Given the description of an element on the screen output the (x, y) to click on. 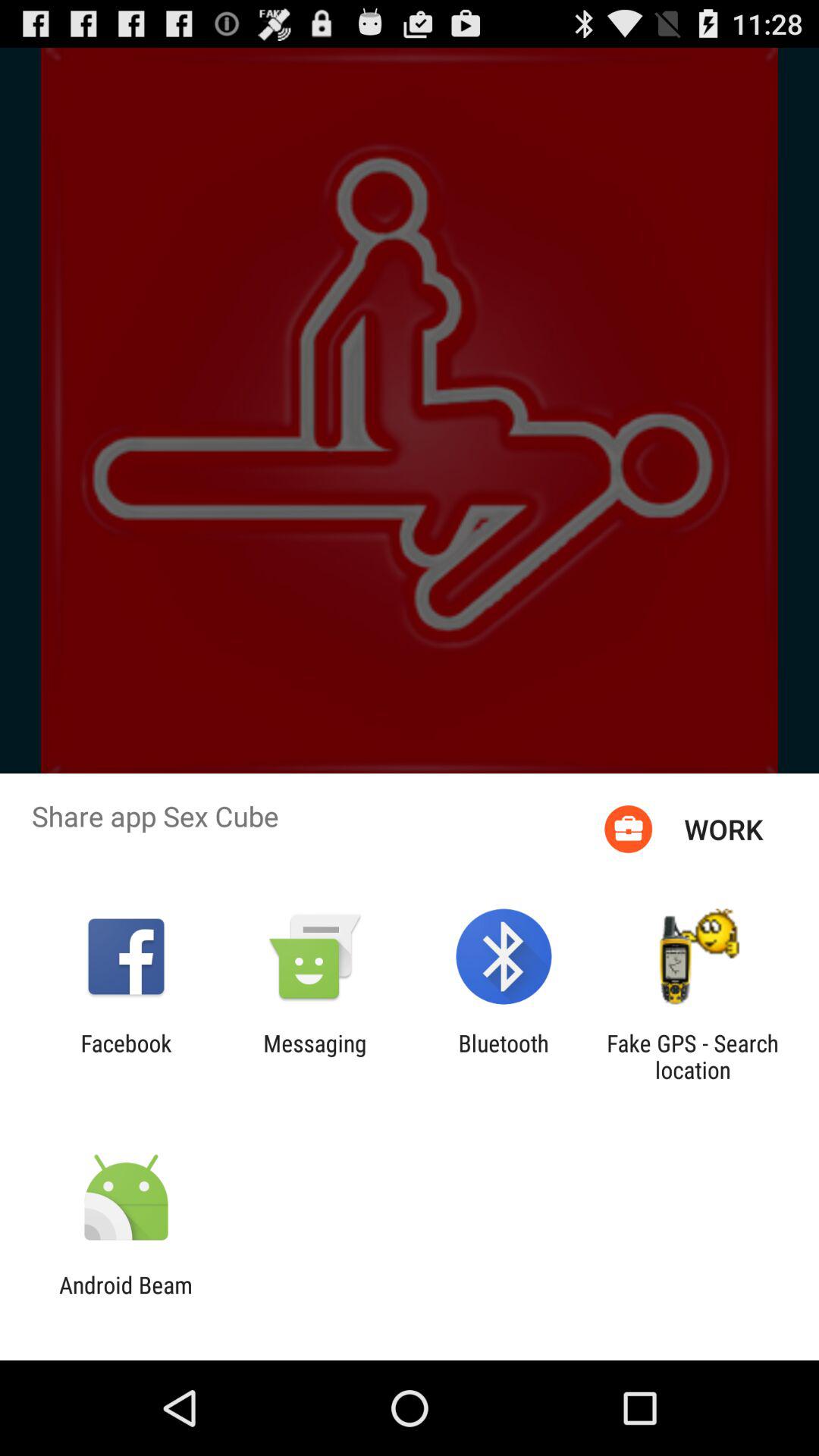
open the bluetooth (503, 1056)
